Given the description of an element on the screen output the (x, y) to click on. 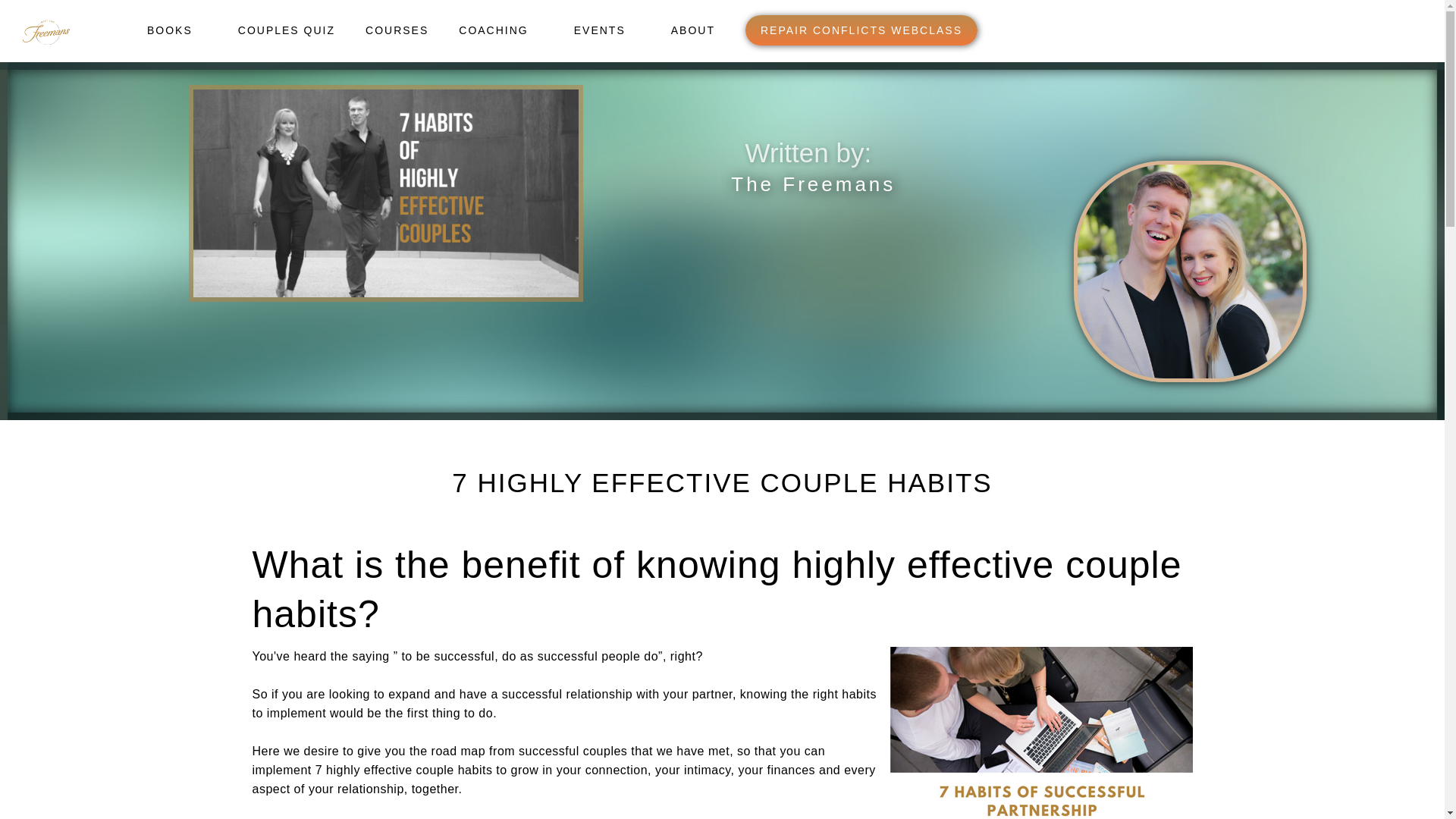
REPAIR CONFLICTS WEBCLASS (860, 30)
COURSES (397, 30)
COUPLES QUIZ (286, 30)
